Given the description of an element on the screen output the (x, y) to click on. 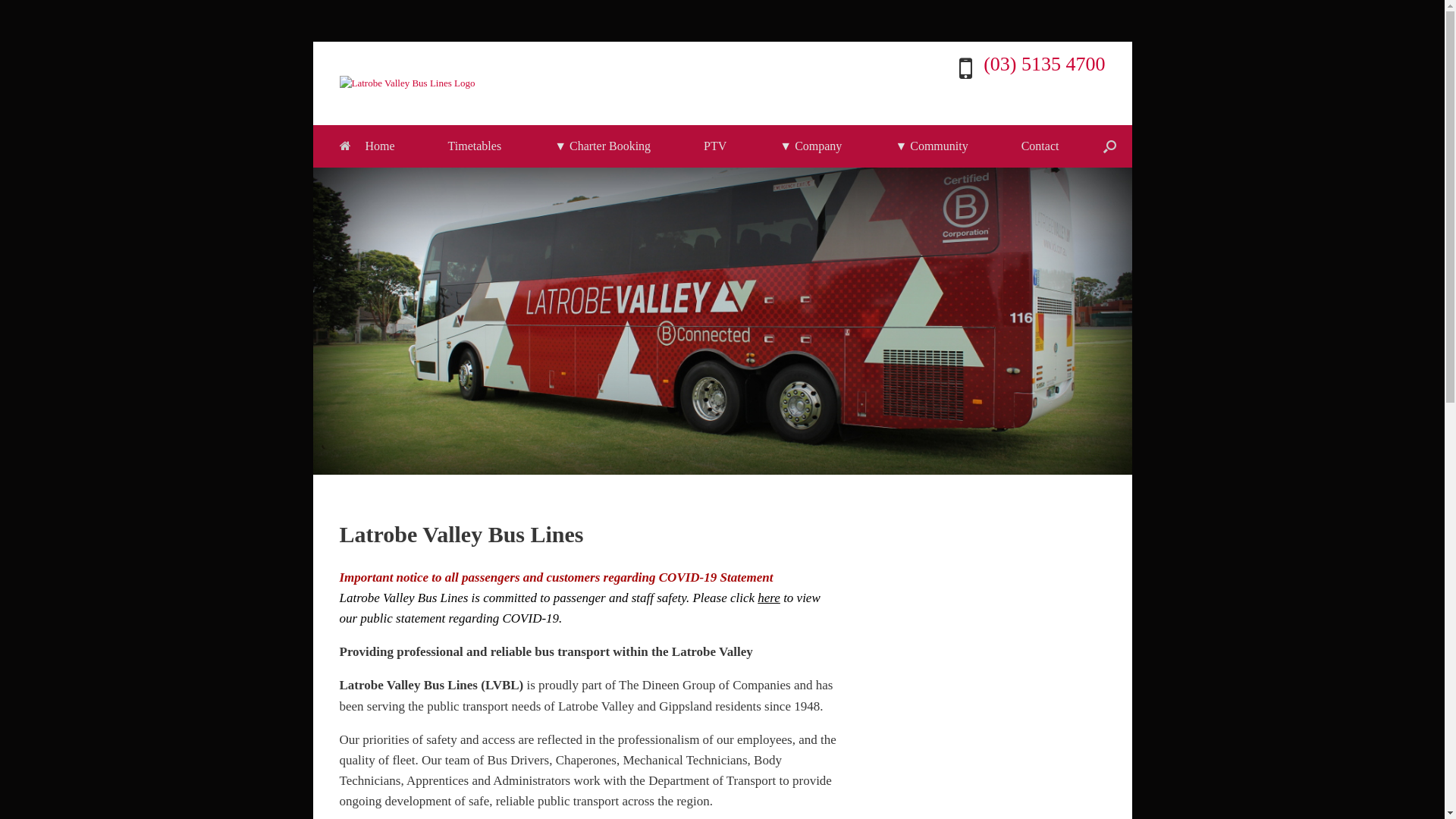
Home Element type: text (366, 145)
PTV Element type: text (715, 145)
here Element type: text (768, 597)
Timetables Element type: text (474, 145)
Latrobe Valley Bus Lines Element type: hover (407, 83)
Contact Element type: text (1039, 145)
(03) 5135 4700 Element type: text (1043, 64)
